Given the description of an element on the screen output the (x, y) to click on. 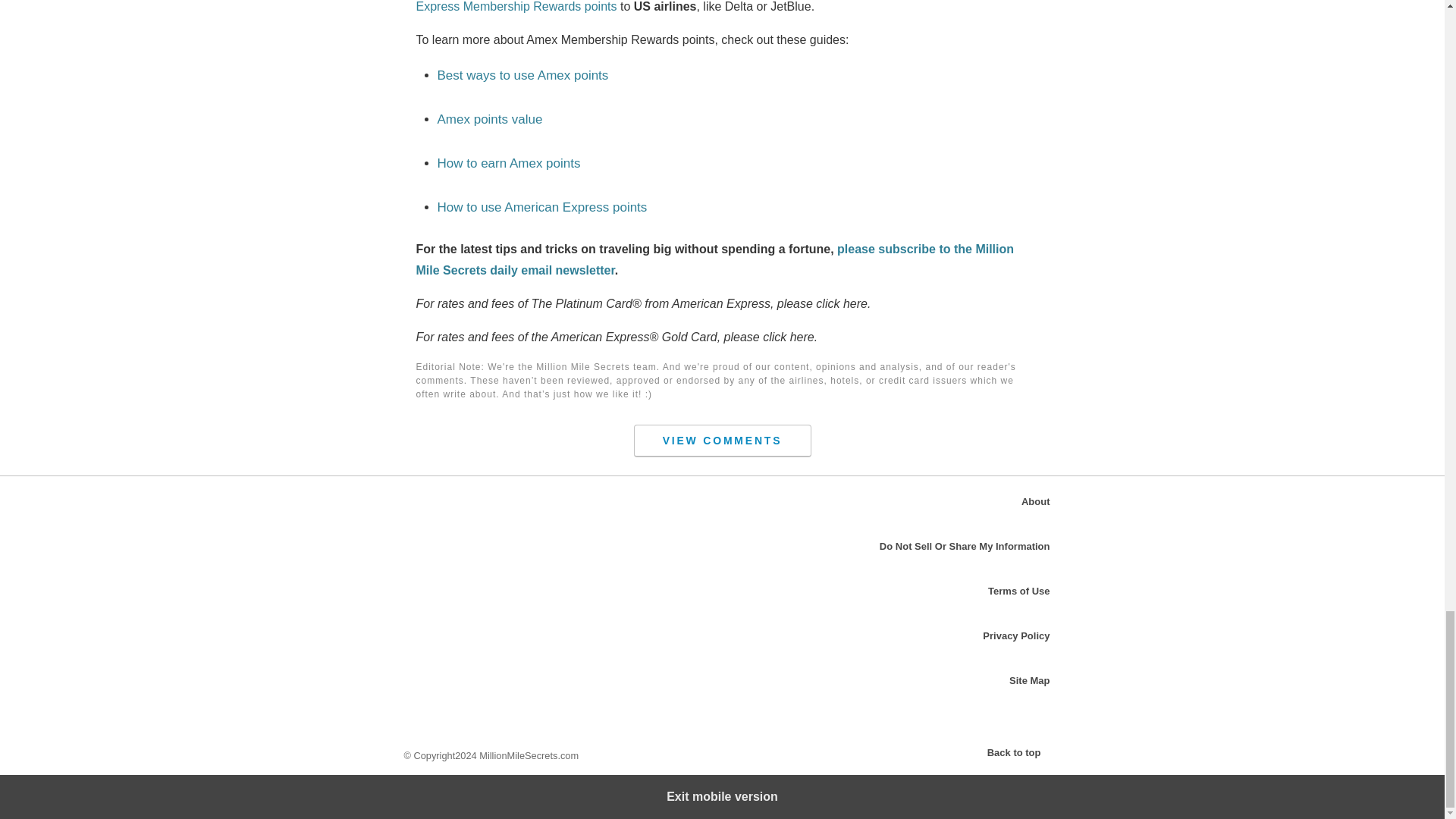
Do Not Sell Or Share My Information (964, 546)
Privacy Policy (1015, 635)
Site Map (1029, 680)
Amex points value (488, 119)
How to earn Amex points (507, 163)
Terms of Use (1018, 591)
Best ways to use Amex points (522, 74)
VIEW COMMENTS (721, 441)
About (1035, 501)
